Given the description of an element on the screen output the (x, y) to click on. 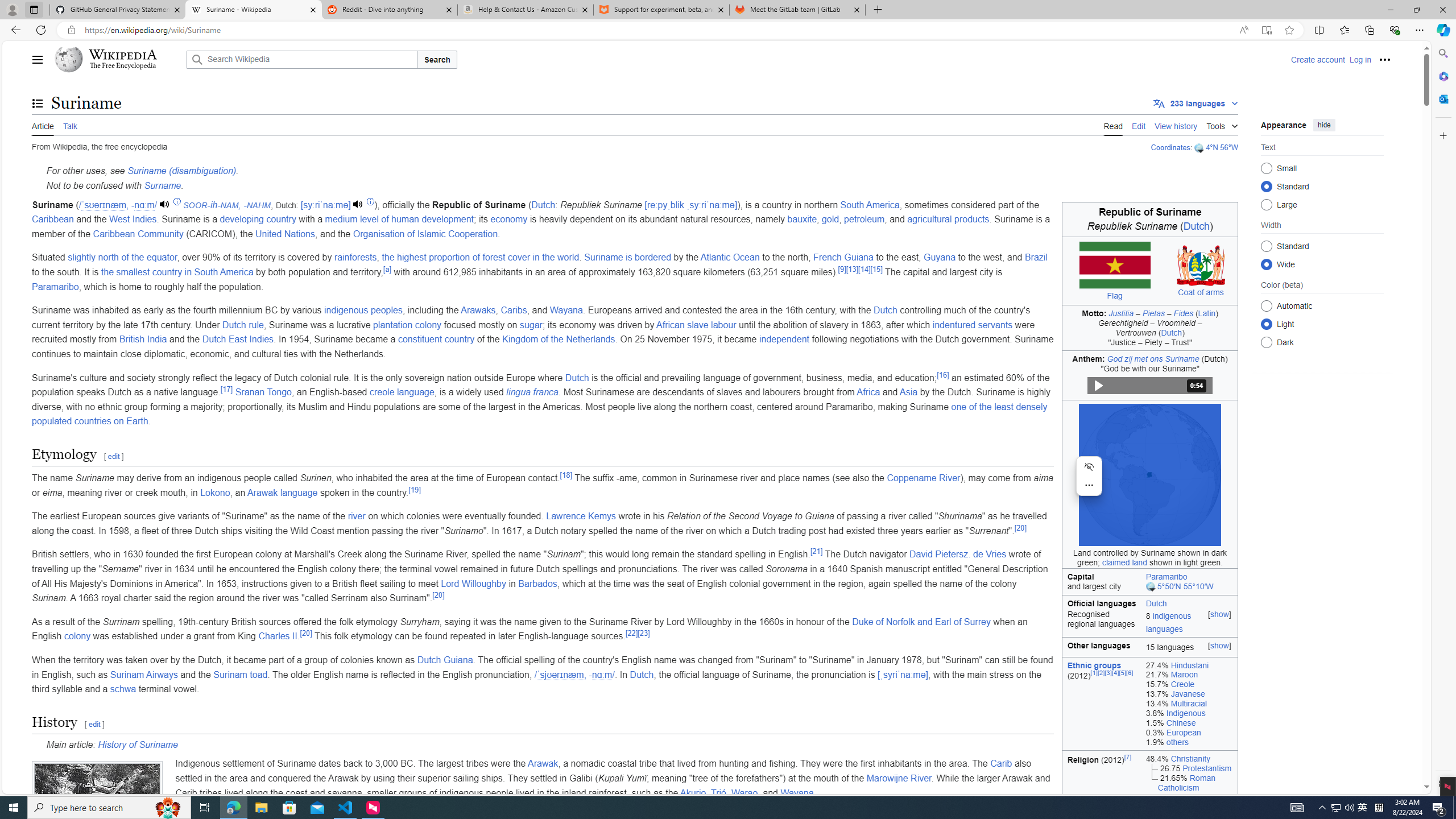
Create account (1317, 58)
[4] (1114, 672)
Log in (1360, 58)
[7] (1127, 756)
Chinese (1180, 722)
Personal tools (1384, 59)
rainforests (355, 257)
Play audio (359, 204)
1.5% Chinese (1189, 722)
Charles II (277, 636)
3.8% Indigenous (1189, 713)
27.4% Hindustani (1189, 665)
